Given the description of an element on the screen output the (x, y) to click on. 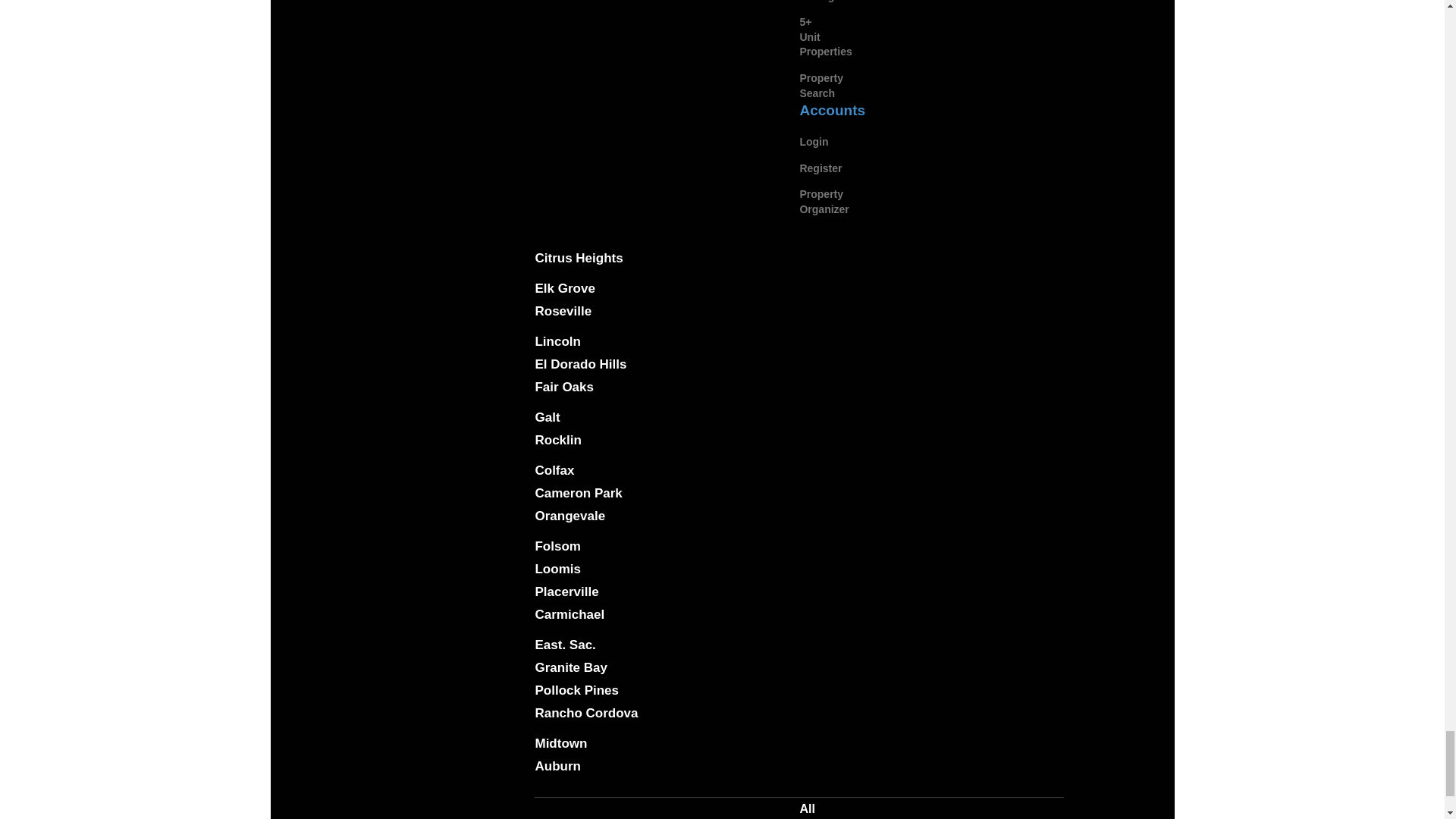
Cameron Park (577, 493)
Rocklin (557, 440)
Property Organizer (823, 201)
Lincoln (556, 341)
Register (820, 168)
Live Listings (819, 1)
Galt (546, 417)
Elk Grove (564, 288)
Citrus Heights (578, 257)
El Dorado Hills (580, 364)
